Given the description of an element on the screen output the (x, y) to click on. 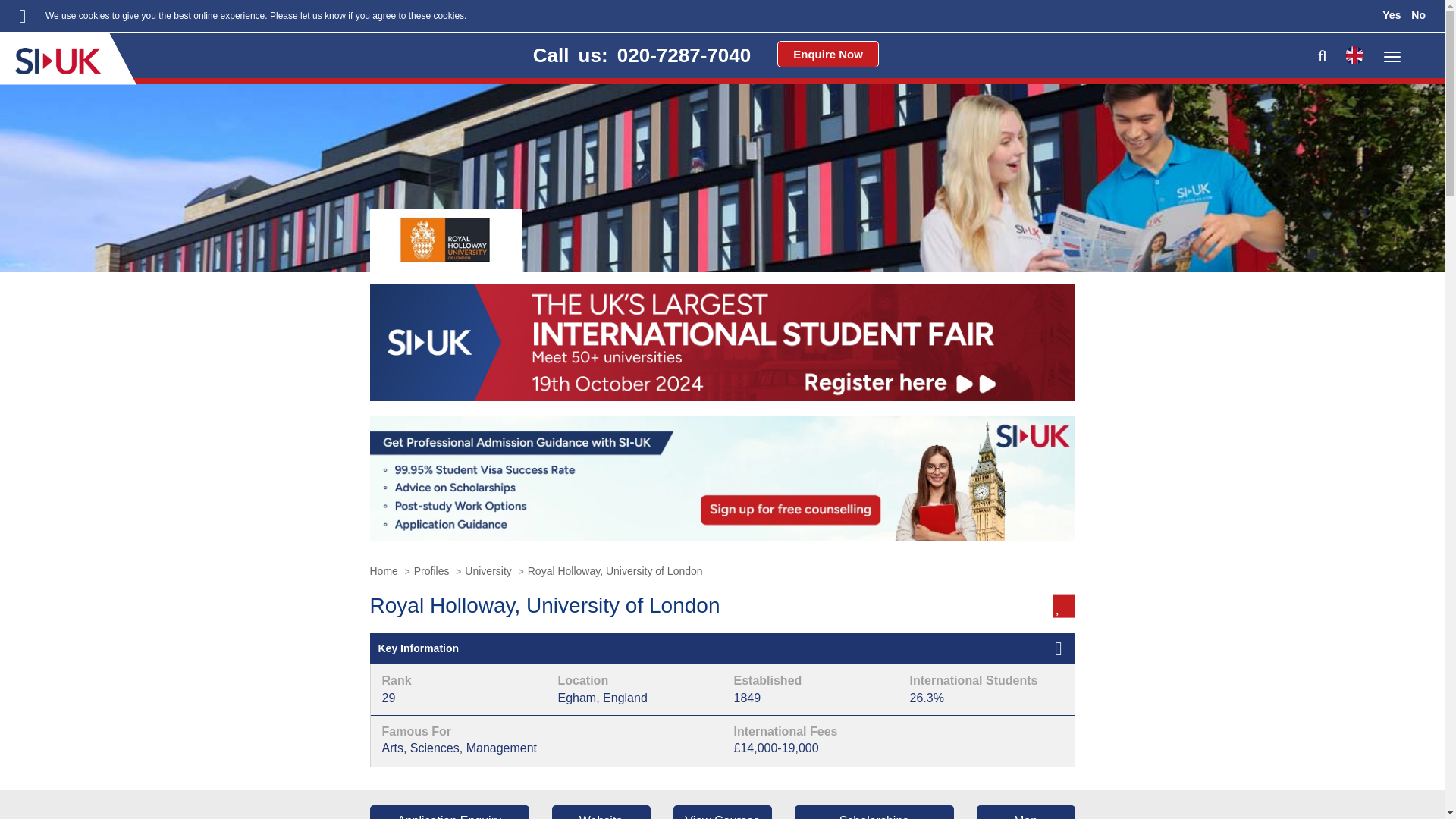
No (1417, 15)
Yes (1390, 15)
